Given the description of an element on the screen output the (x, y) to click on. 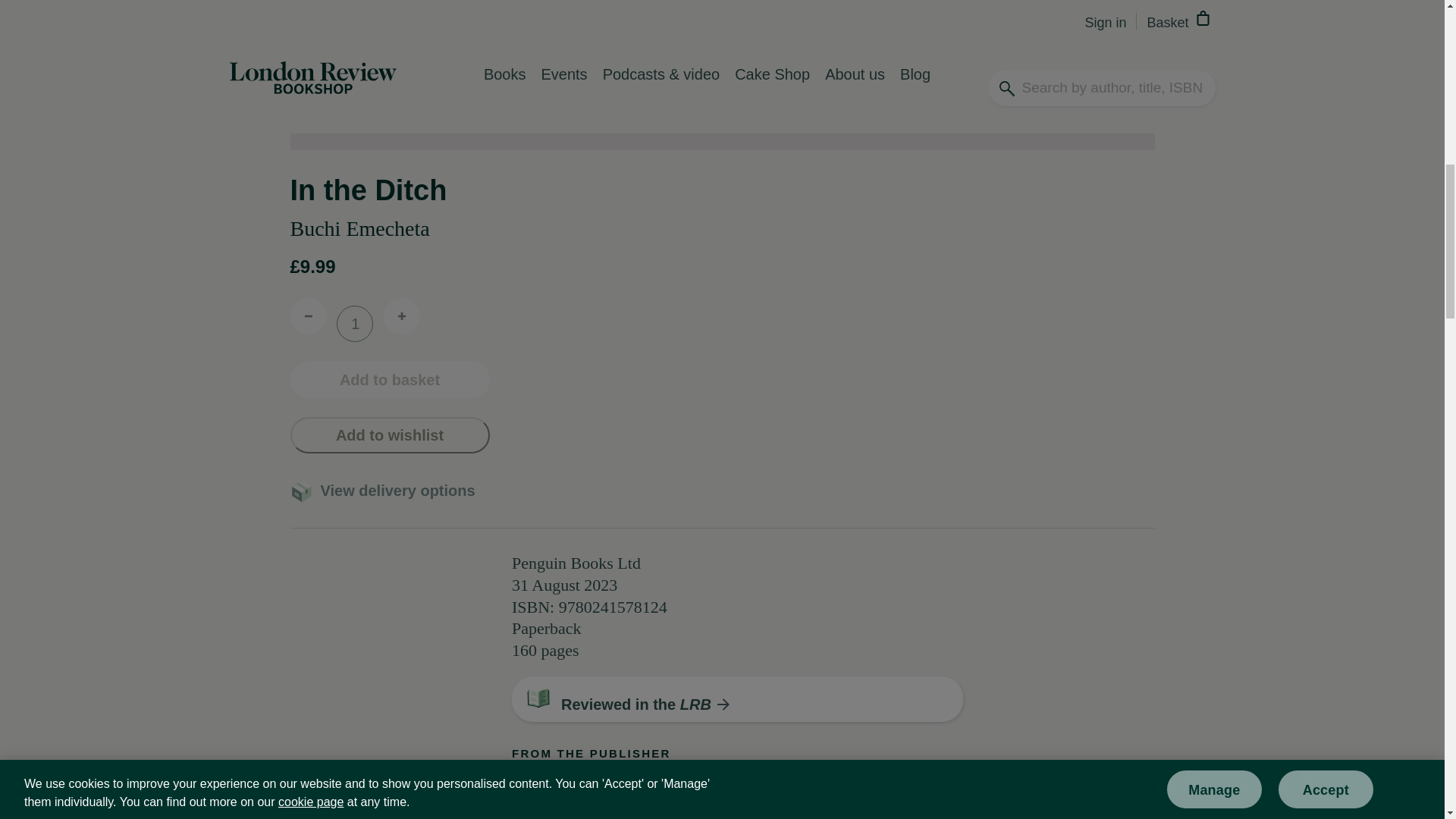
1 (354, 323)
View delivery options (391, 490)
Reduce quantity (307, 316)
Add to wishlist (389, 434)
Add to basket (389, 379)
Reviewed in the LRB (643, 704)
Increase quantity (402, 316)
